Given the description of an element on the screen output the (x, y) to click on. 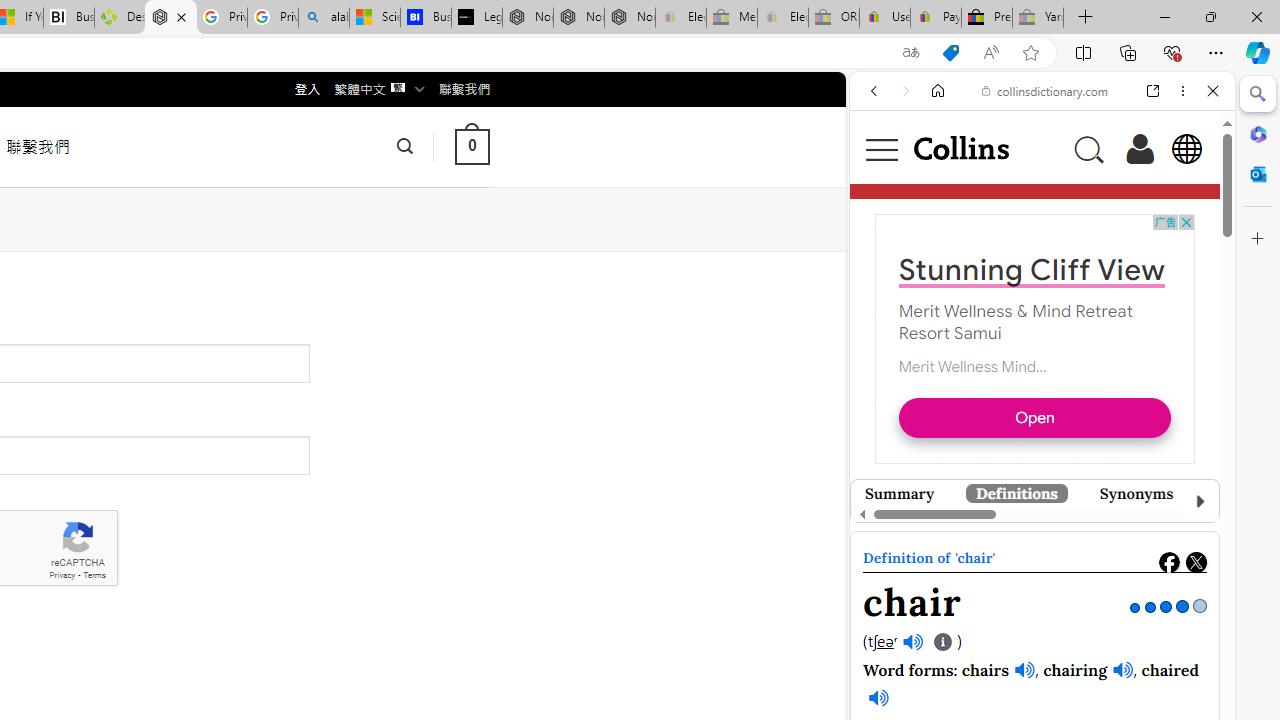
Summary (899, 493)
Class: ns-vyjj0-e-1 svg-anchor (1034, 536)
Class: ns-14utm-e-3 image p9FadeIn (1027, 539)
Link for logging (893, 359)
